Given the description of an element on the screen output the (x, y) to click on. 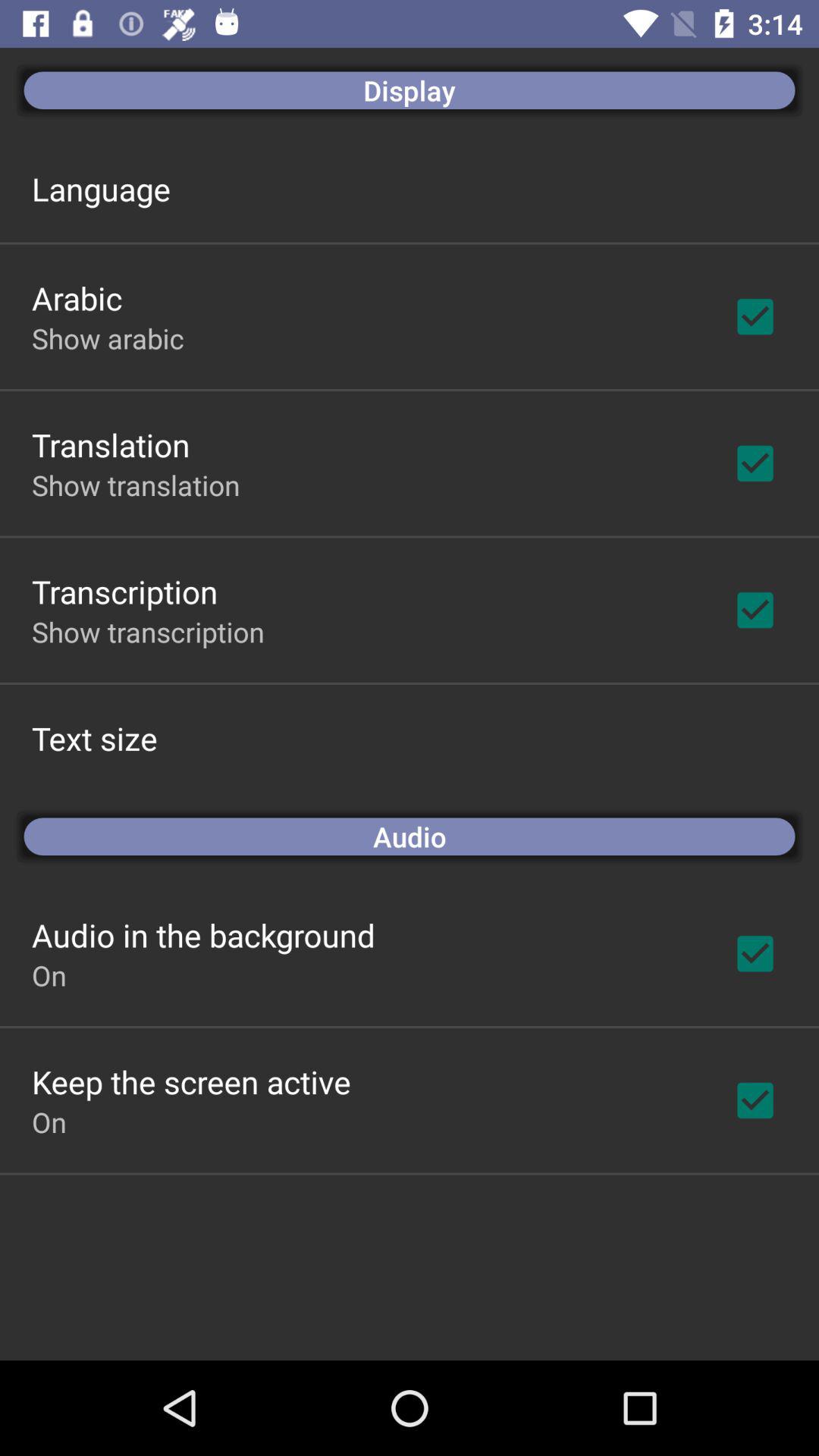
turn off the app above arabic icon (100, 188)
